Given the description of an element on the screen output the (x, y) to click on. 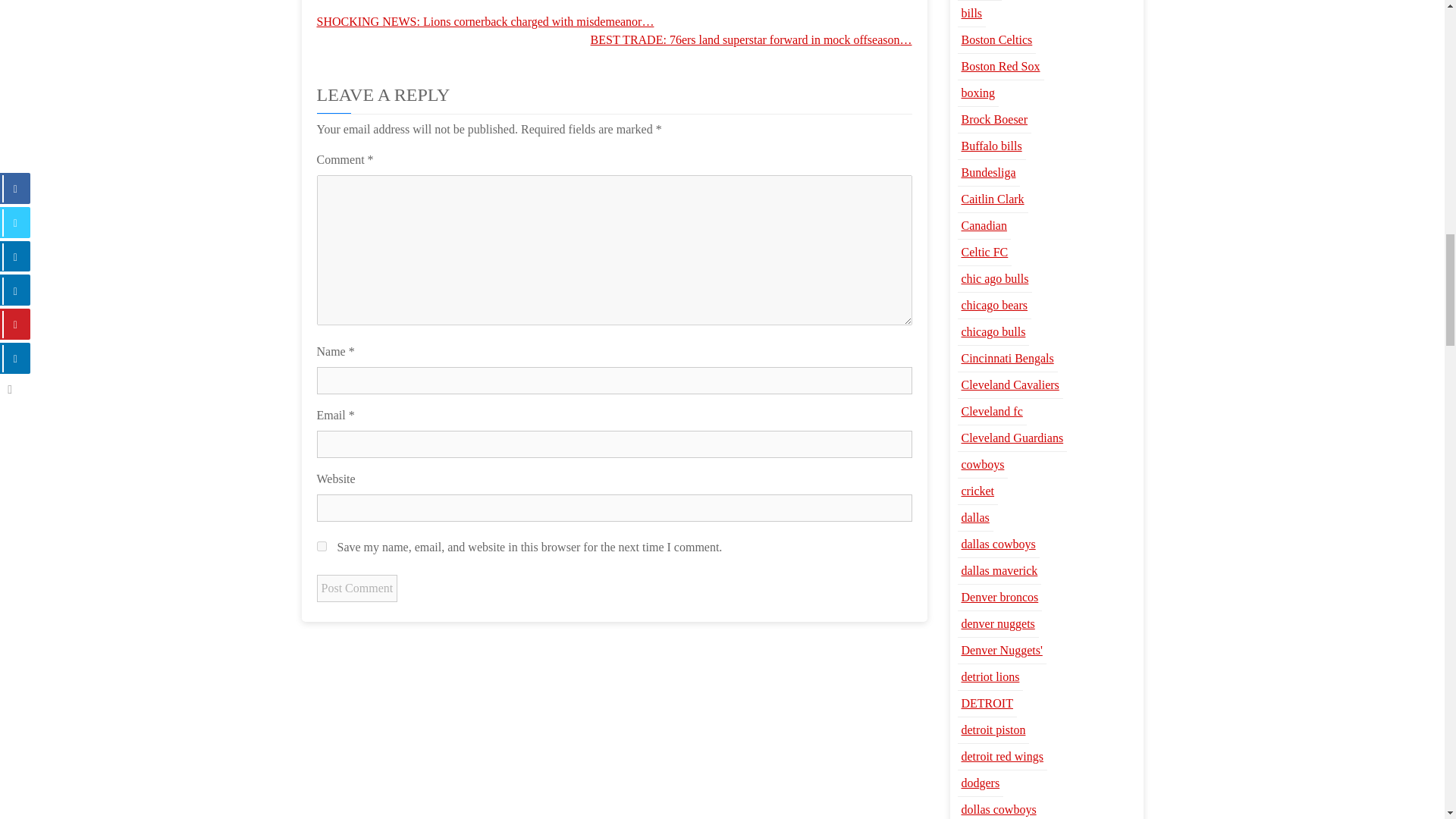
Post Comment (357, 587)
yes (321, 546)
